Given the description of an element on the screen output the (x, y) to click on. 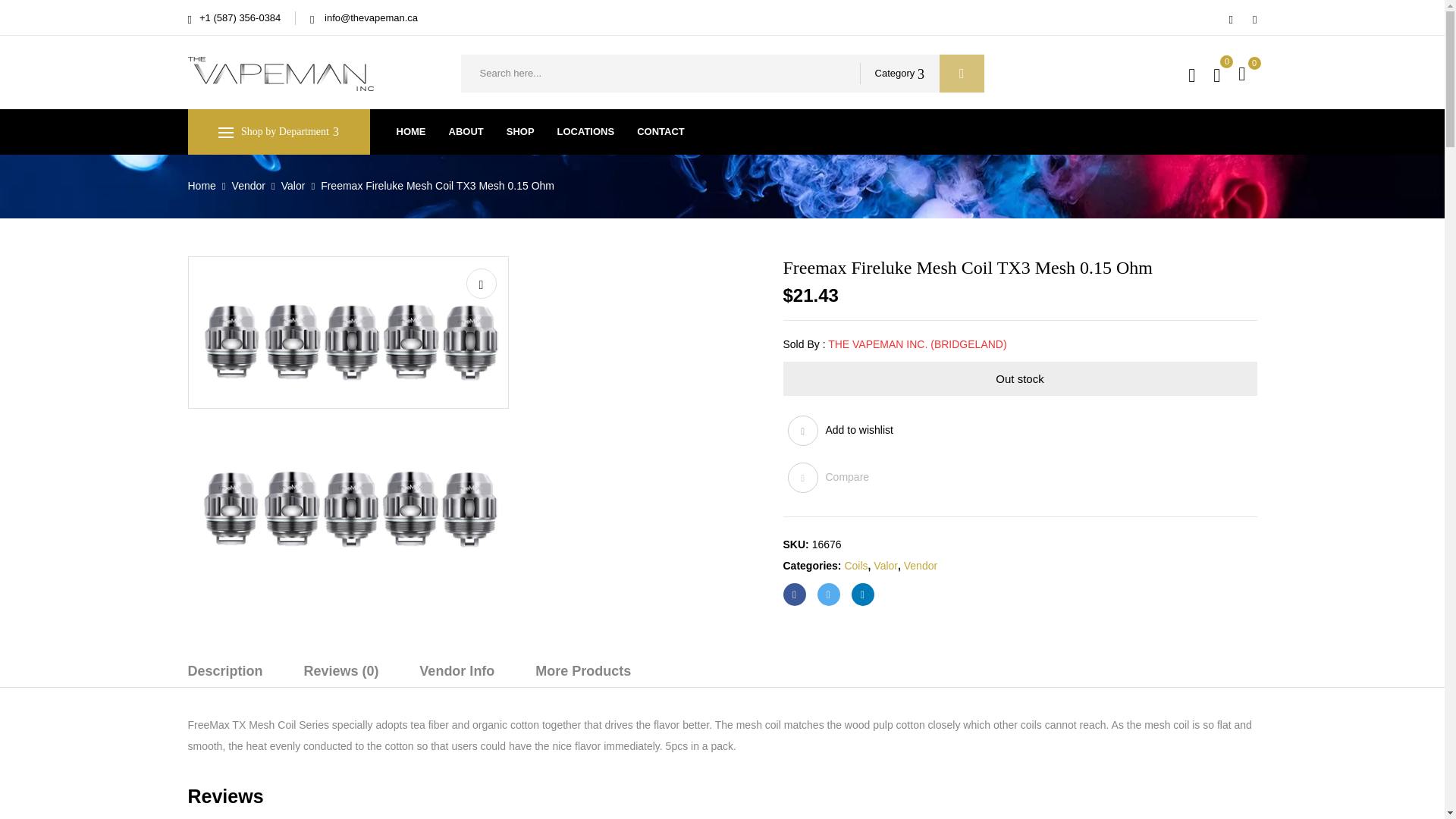
SHOP (520, 131)
LOCATIONS (585, 131)
Vendor (247, 185)
search (961, 73)
Facebook (794, 594)
Home (201, 185)
HOME (410, 131)
Valor (293, 185)
Twitter (828, 594)
CONTACT (660, 131)
